Given the description of an element on the screen output the (x, y) to click on. 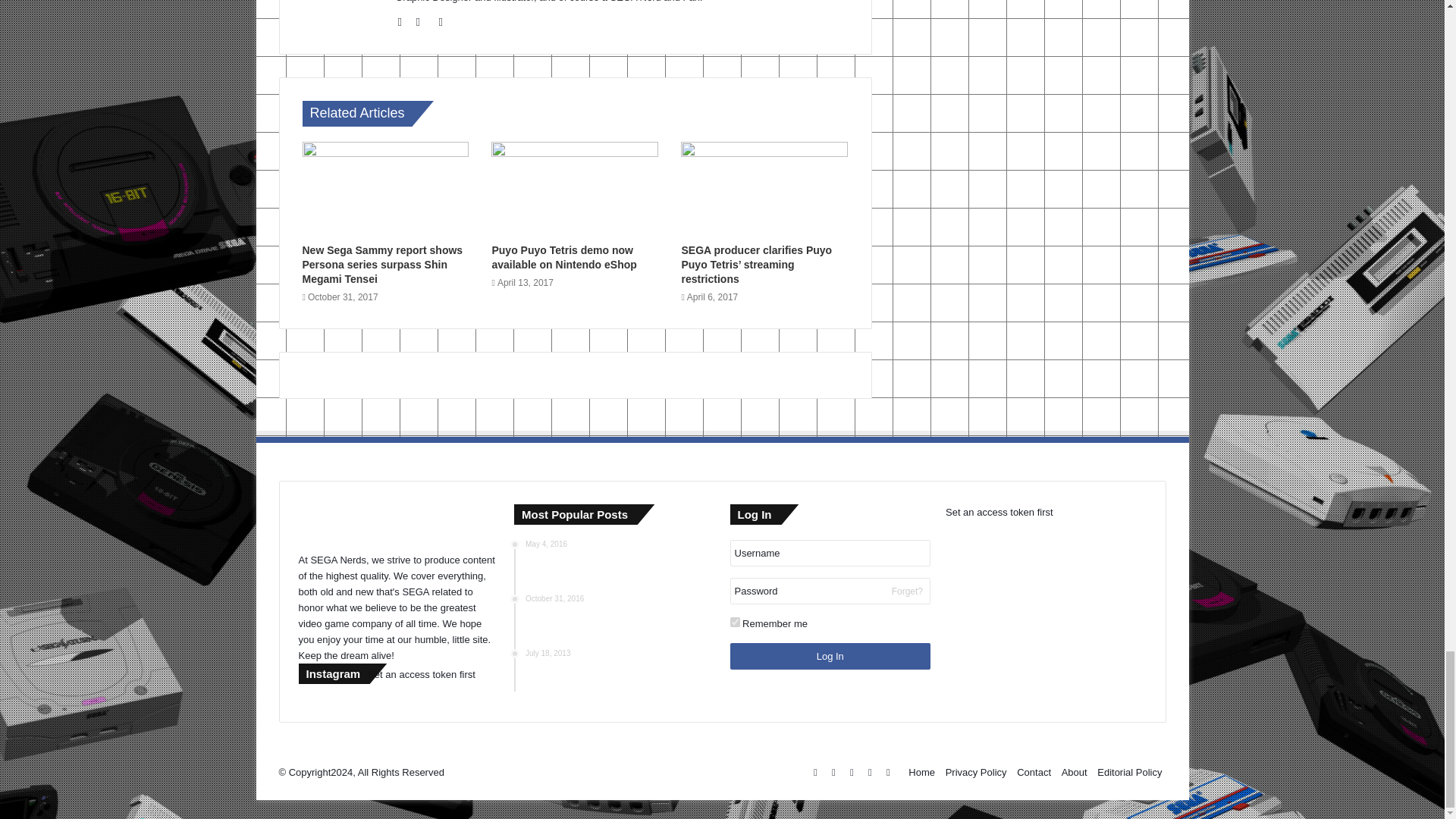
Password (829, 591)
forever (734, 622)
Username (829, 552)
